Given the description of an element on the screen output the (x, y) to click on. 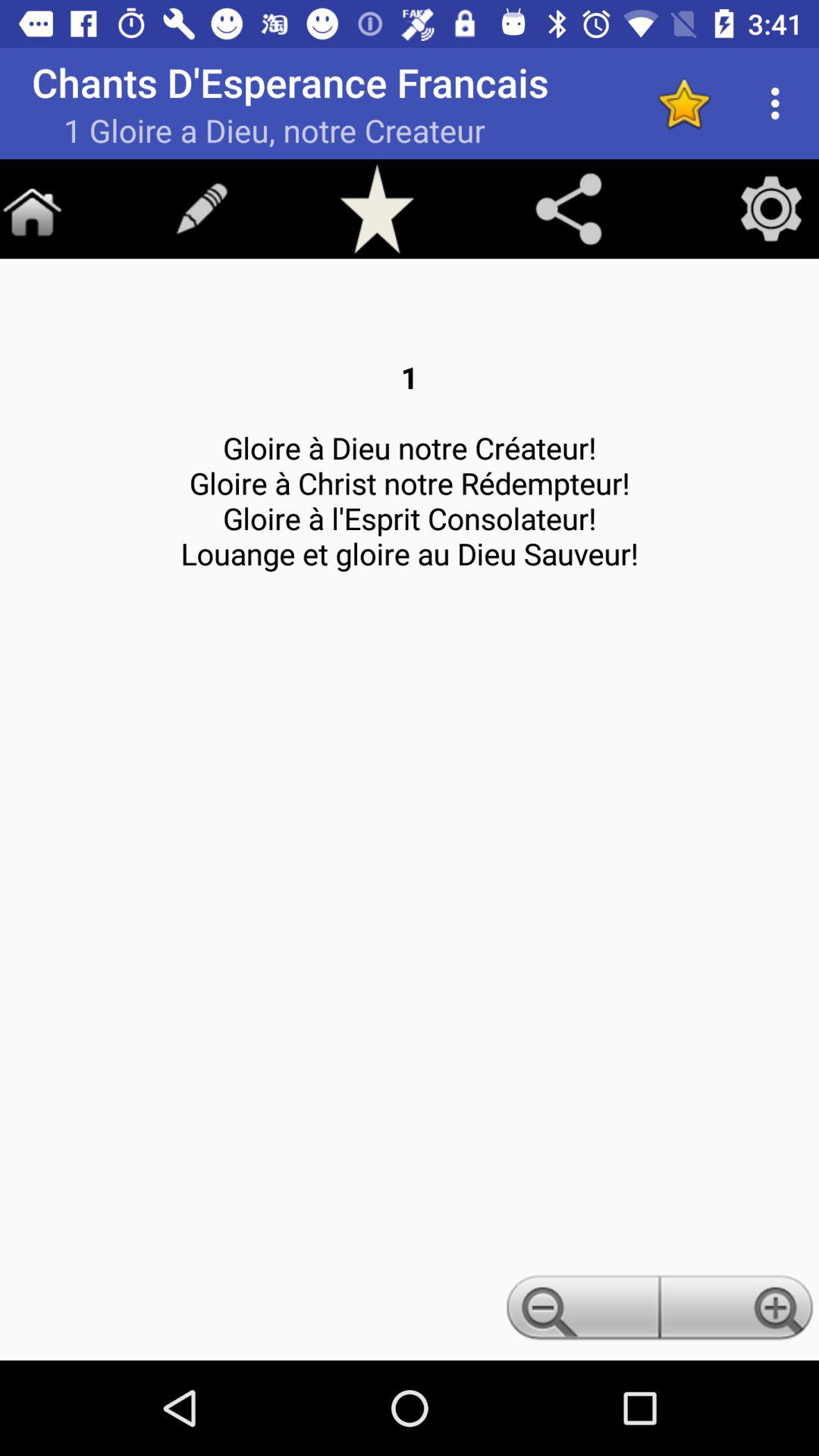
tap the item below the 1 gloire a item (377, 208)
